Given the description of an element on the screen output the (x, y) to click on. 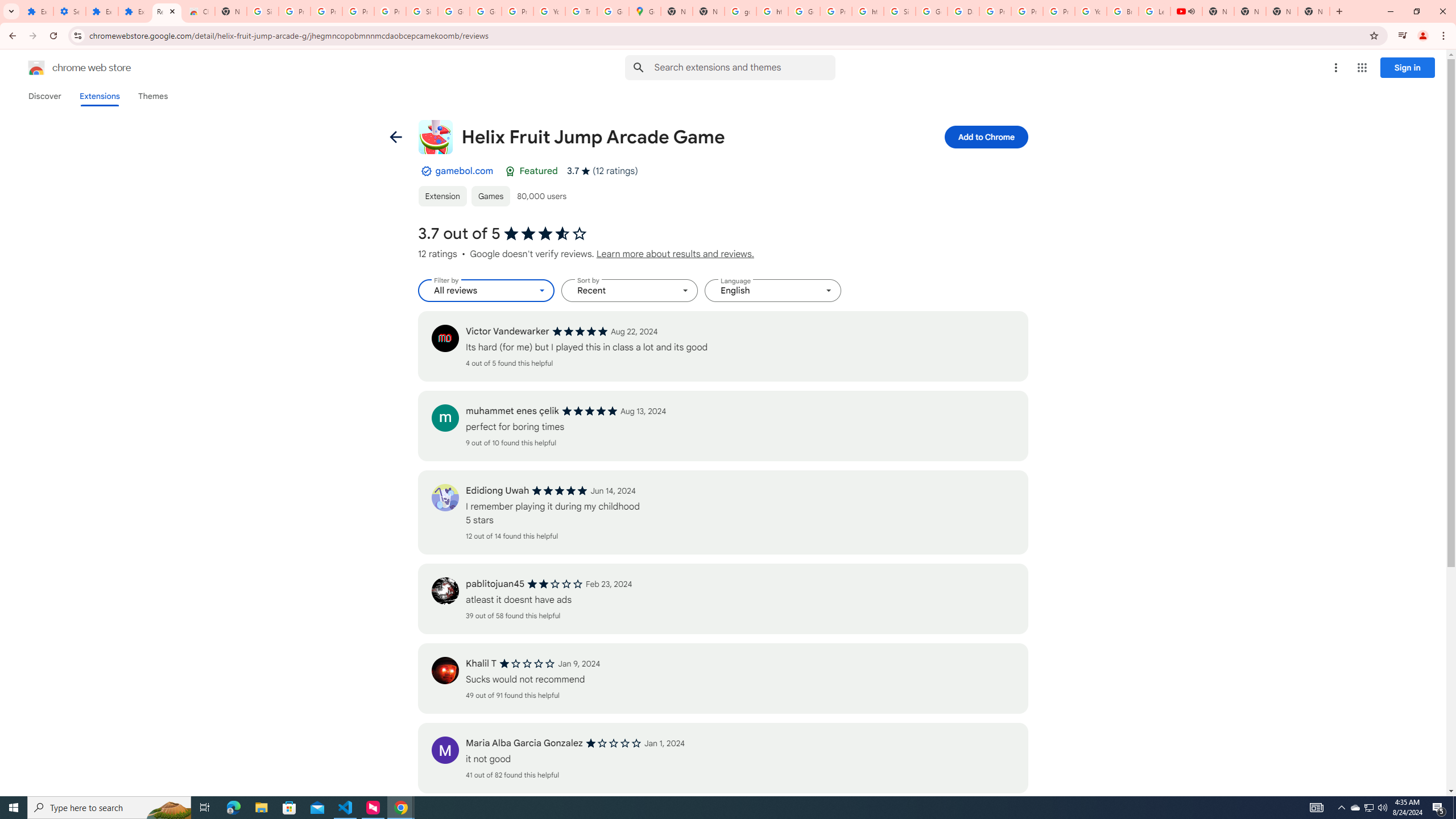
More options menu (1335, 67)
Extensions (37, 11)
Google Maps (644, 11)
By Established Publisher Badge (425, 170)
Search input (744, 67)
https://scholar.google.com/ (772, 11)
Extensions (134, 11)
Filter by All reviews (485, 290)
Sign in - Google Accounts (421, 11)
New Tab (1313, 11)
